Given the description of an element on the screen output the (x, y) to click on. 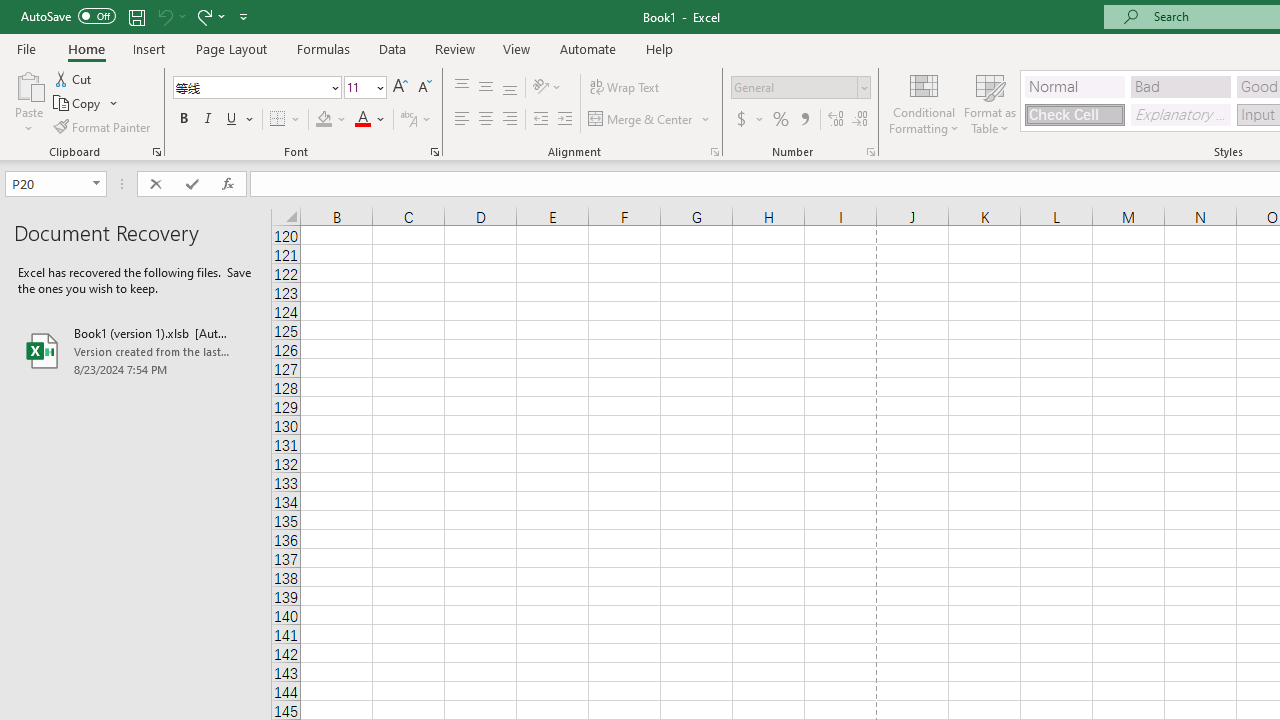
Percent Style (781, 119)
Show Phonetic Field (408, 119)
Underline (239, 119)
Conditional Formatting (924, 102)
Number Format (800, 87)
Top Align (461, 87)
Increase Decimal (836, 119)
Copy (85, 103)
Show Phonetic Field (416, 119)
